Given the description of an element on the screen output the (x, y) to click on. 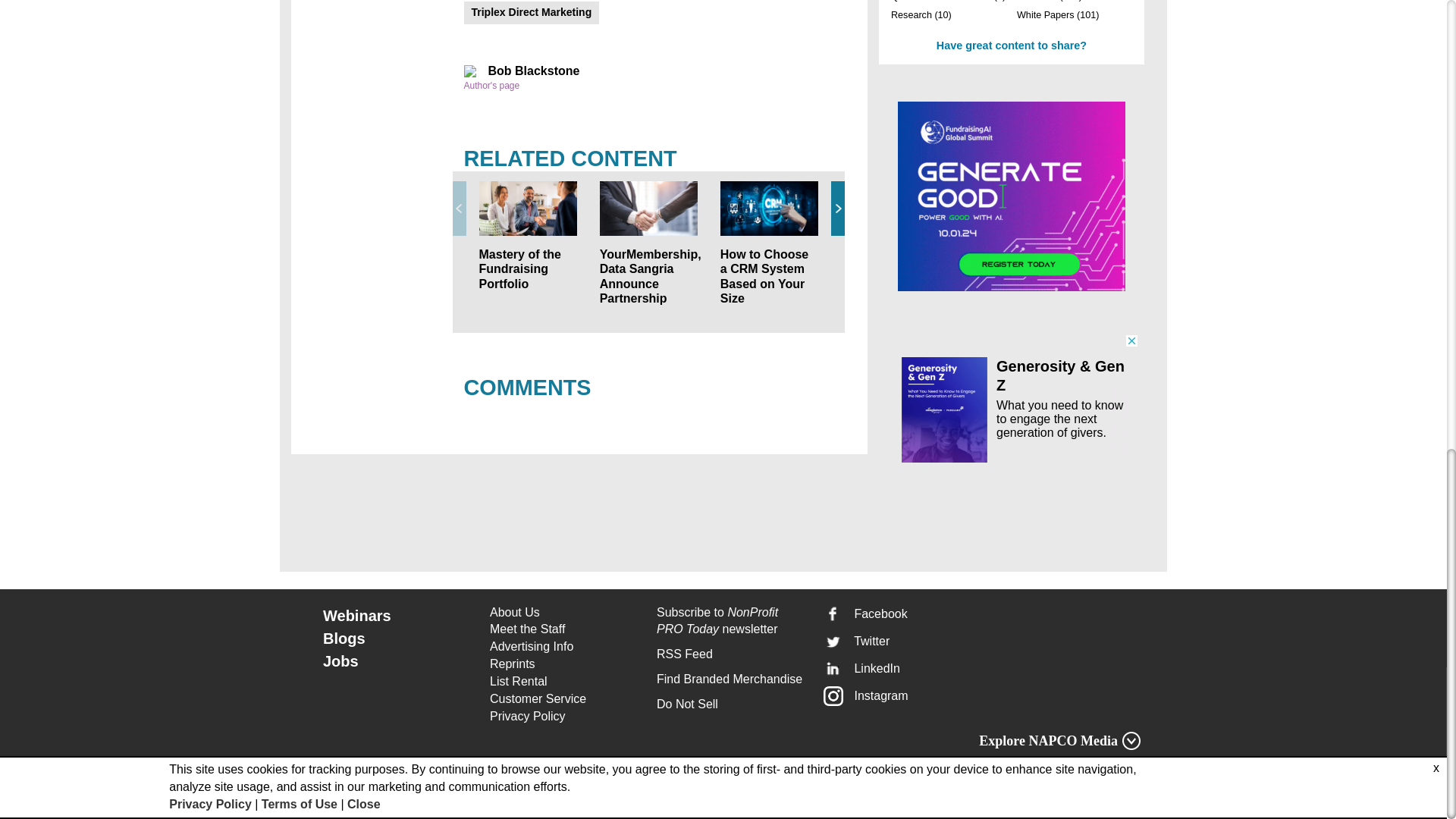
Opens in a new window (564, 699)
3rd party ad content (1011, 196)
3rd party ad content (1011, 398)
